Given the description of an element on the screen output the (x, y) to click on. 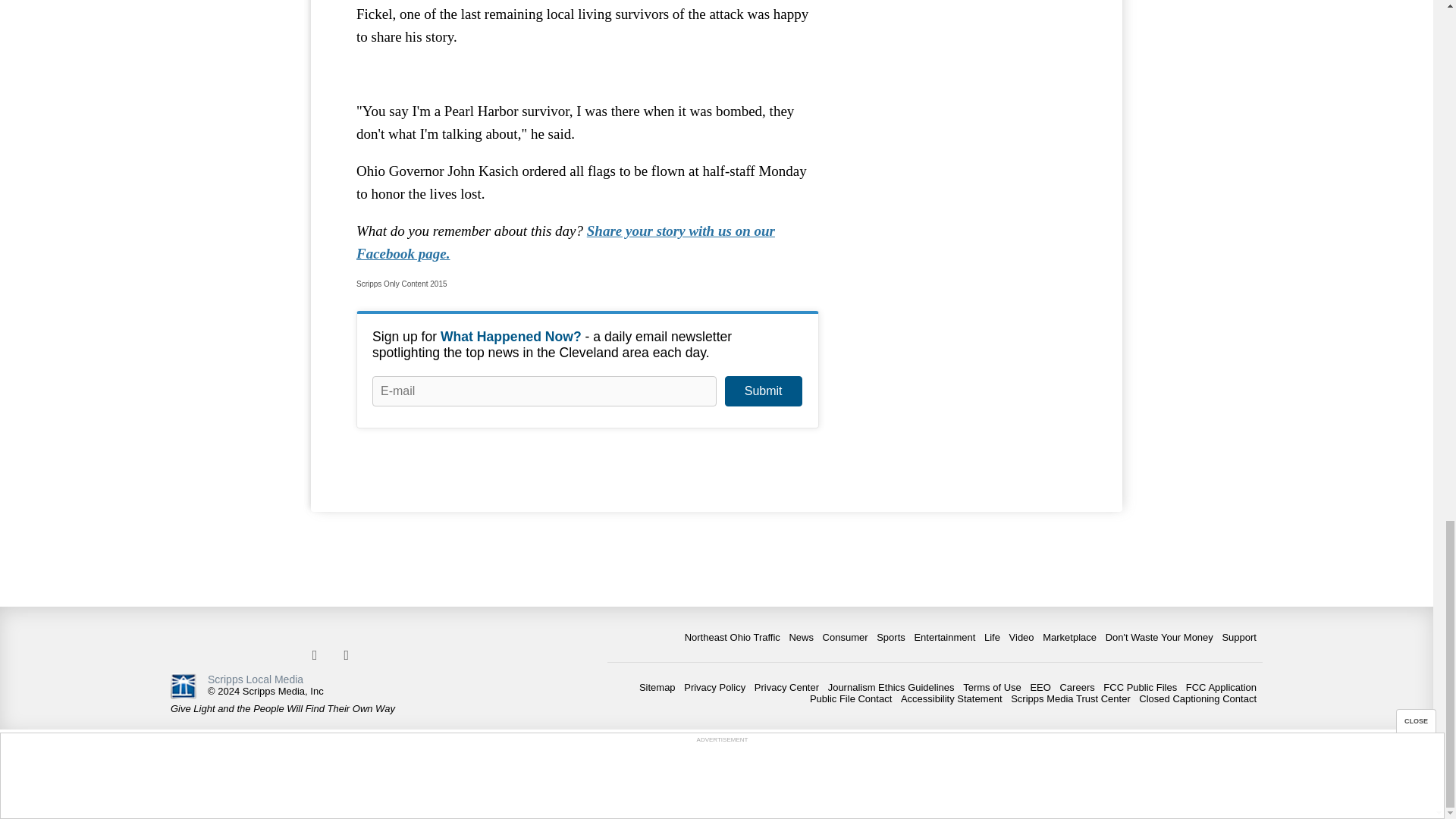
Submit (763, 390)
